Given the description of an element on the screen output the (x, y) to click on. 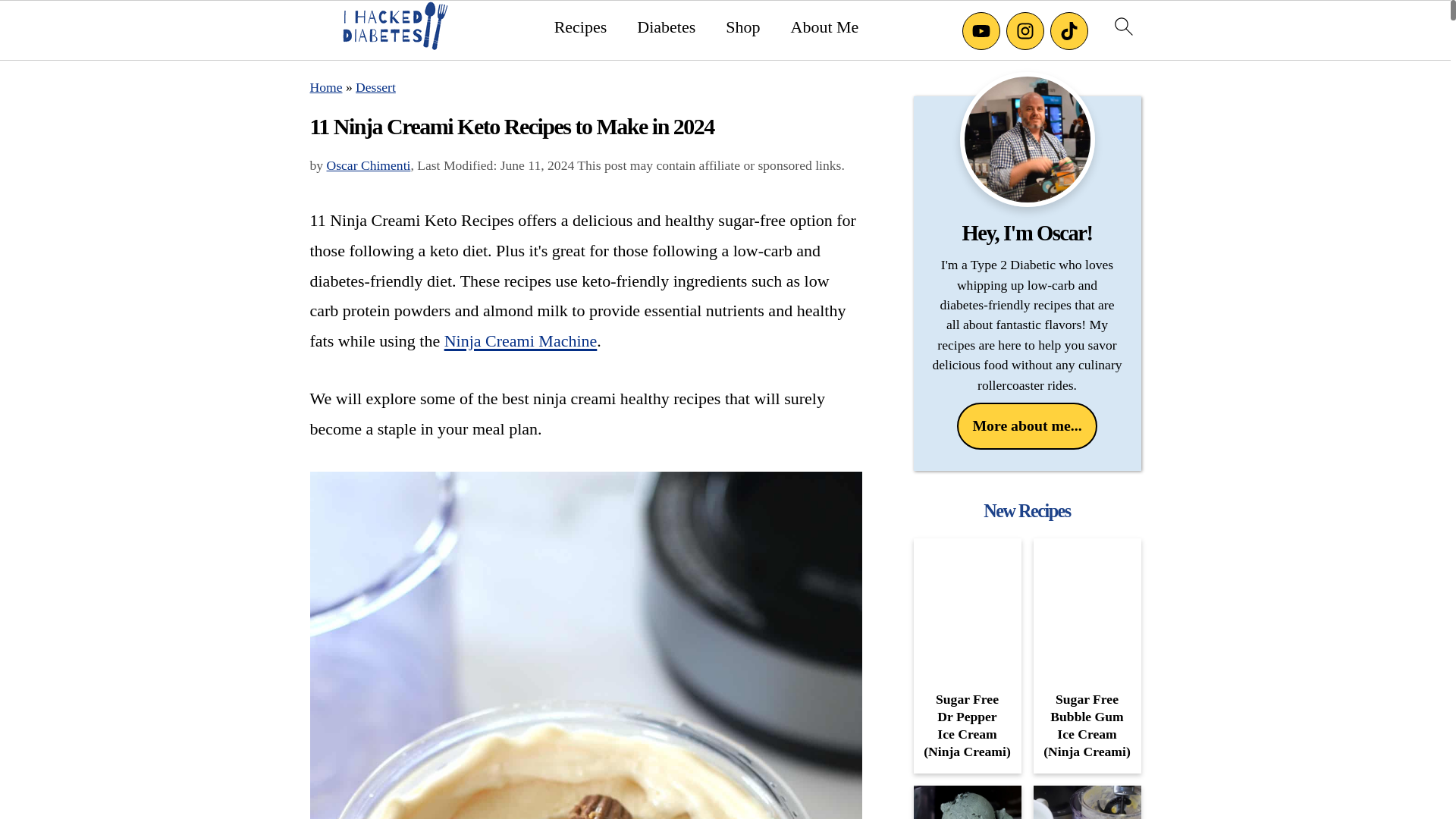
Recipes (580, 26)
Oscar Chimenti (368, 165)
Shop (742, 26)
Dessert (375, 87)
Home (325, 87)
About Me (824, 26)
Diabetes (666, 26)
search icon (1122, 26)
